Given the description of an element on the screen output the (x, y) to click on. 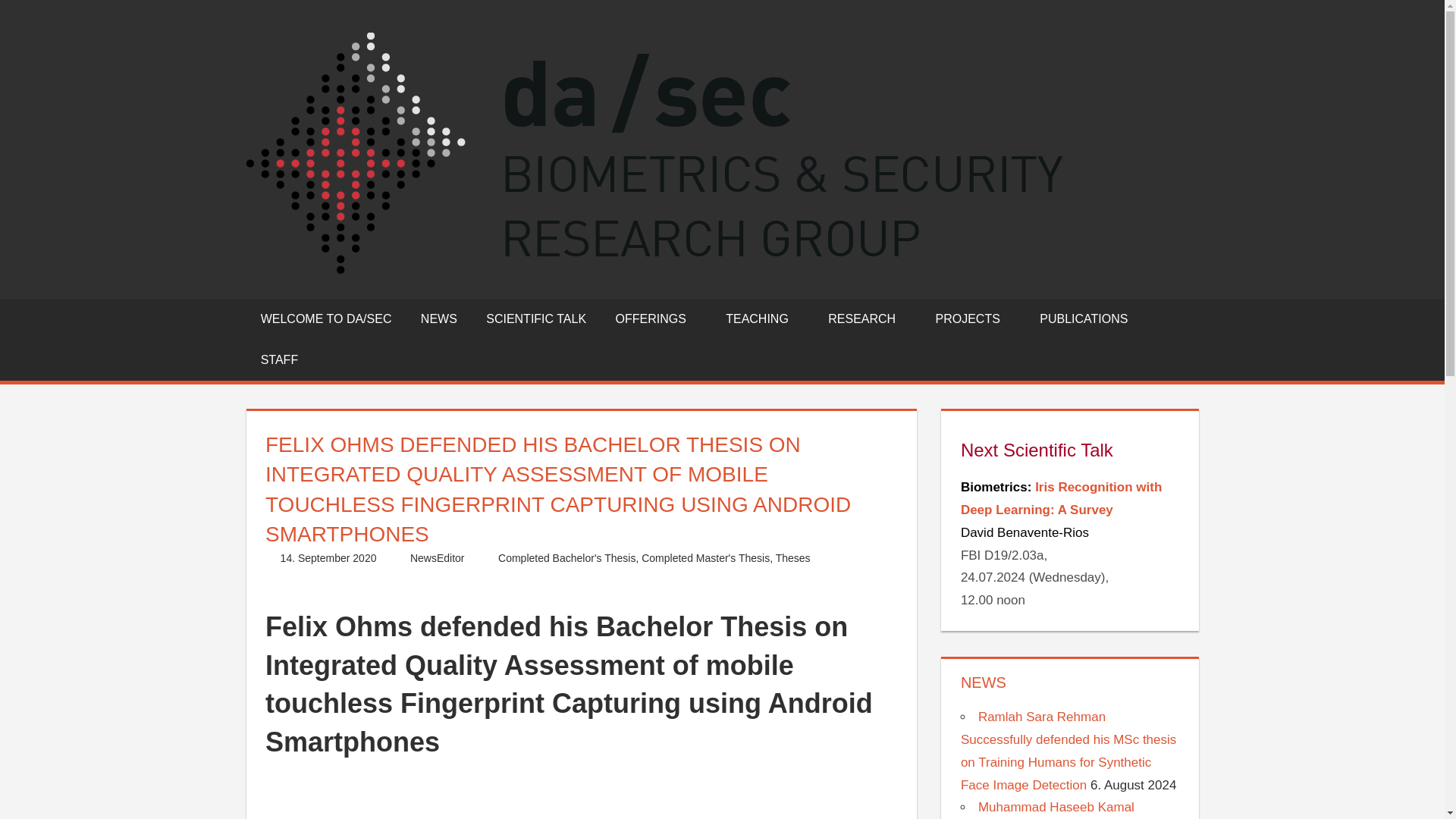
TEACHING (762, 318)
10:57 (329, 558)
PUBLICATIONS (1083, 318)
Iris Recognition with Deep Learning: A Survey (1060, 497)
STAFF (279, 359)
Theses (793, 558)
PROJECTS (972, 318)
NewsEditor (437, 558)
SCIENTIFIC TALK (535, 318)
OFFERINGS (655, 318)
RESEARCH (866, 318)
Completed Bachelor's Thesis (565, 558)
Completed Master's Thesis (706, 558)
